Given the description of an element on the screen output the (x, y) to click on. 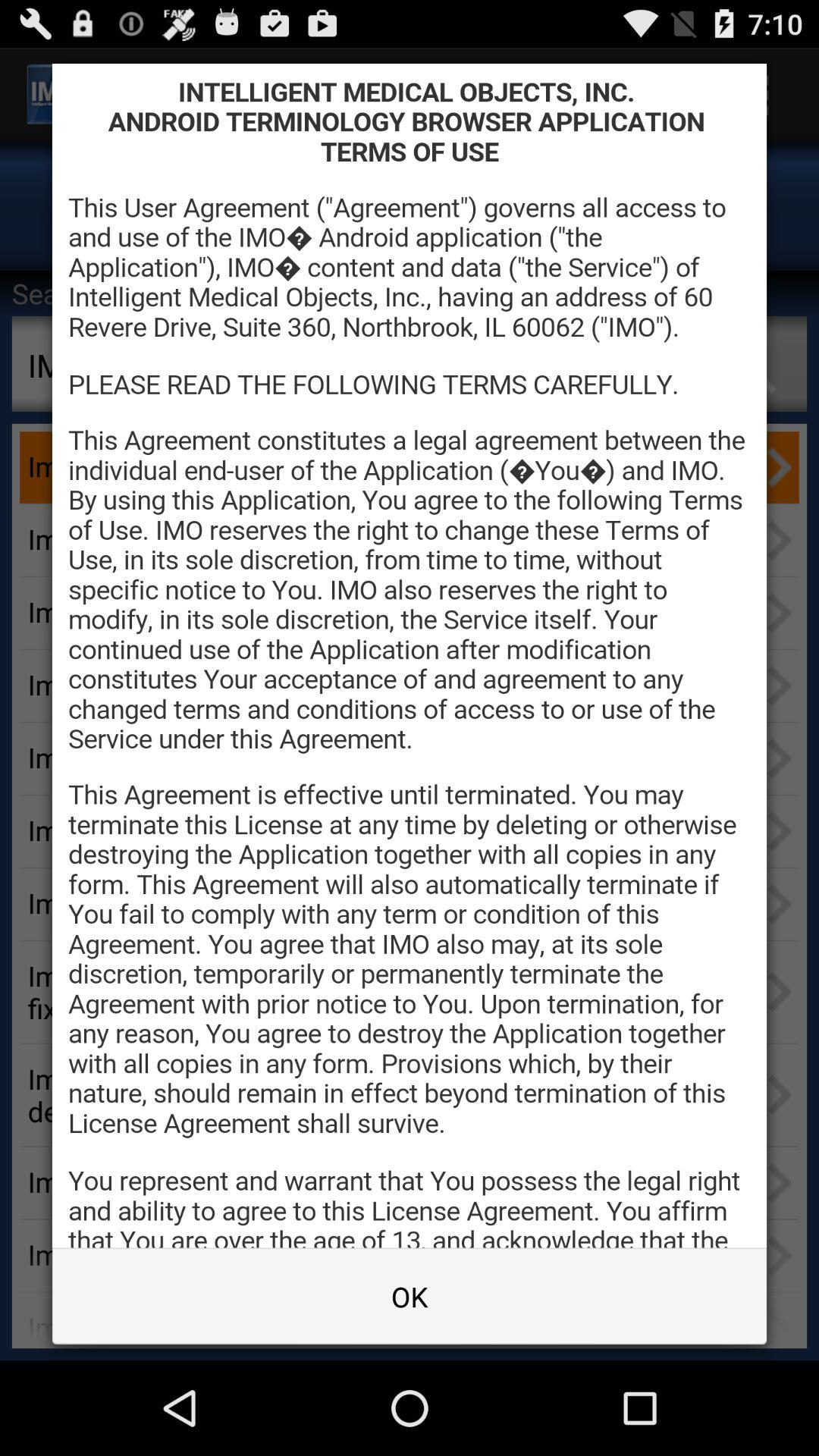
screen page (409, 655)
